Given the description of an element on the screen output the (x, y) to click on. 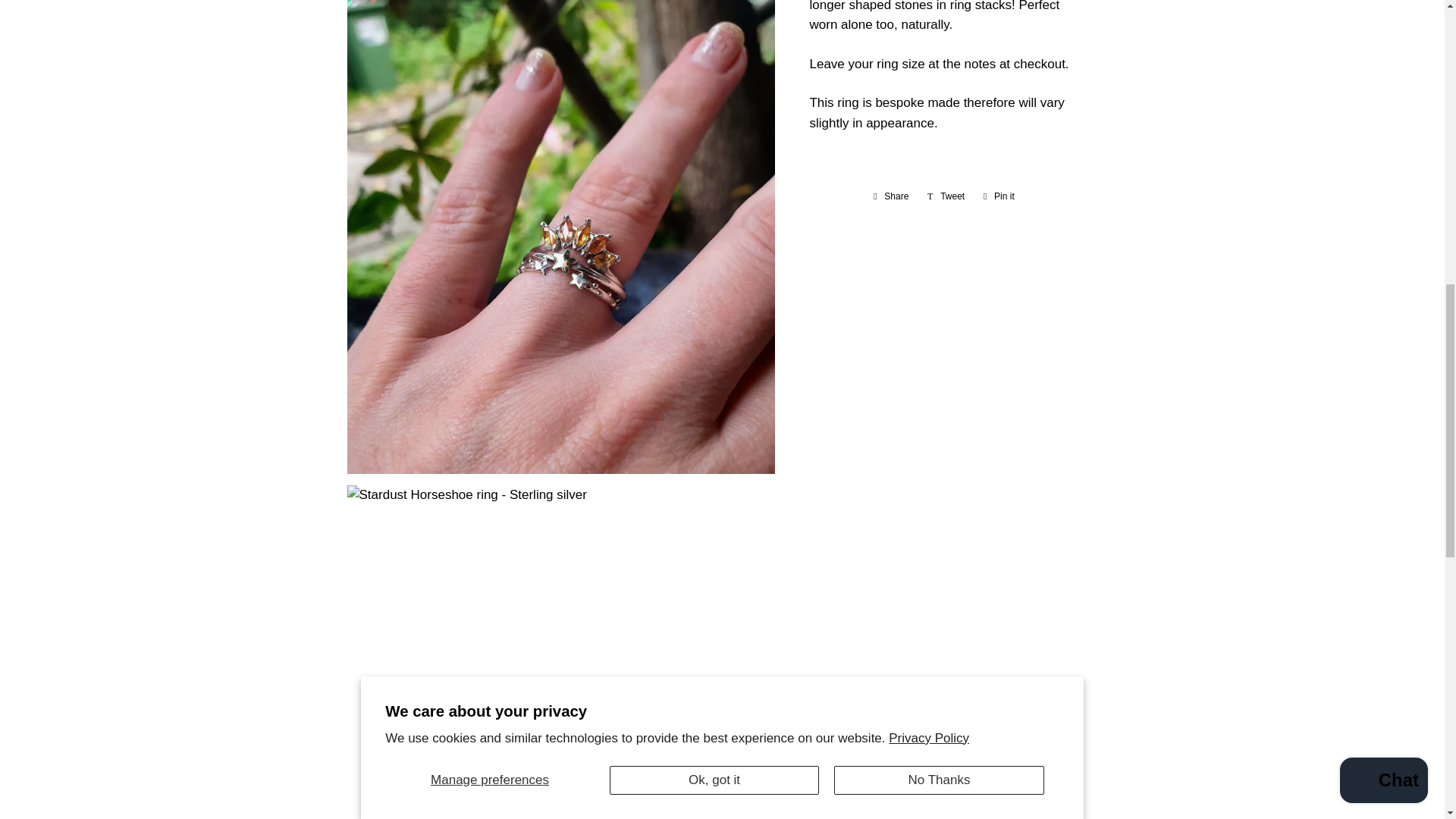
Share on Facebook (890, 196)
Pin on Pinterest (998, 196)
Tweet on Twitter (946, 196)
